Given the description of an element on the screen output the (x, y) to click on. 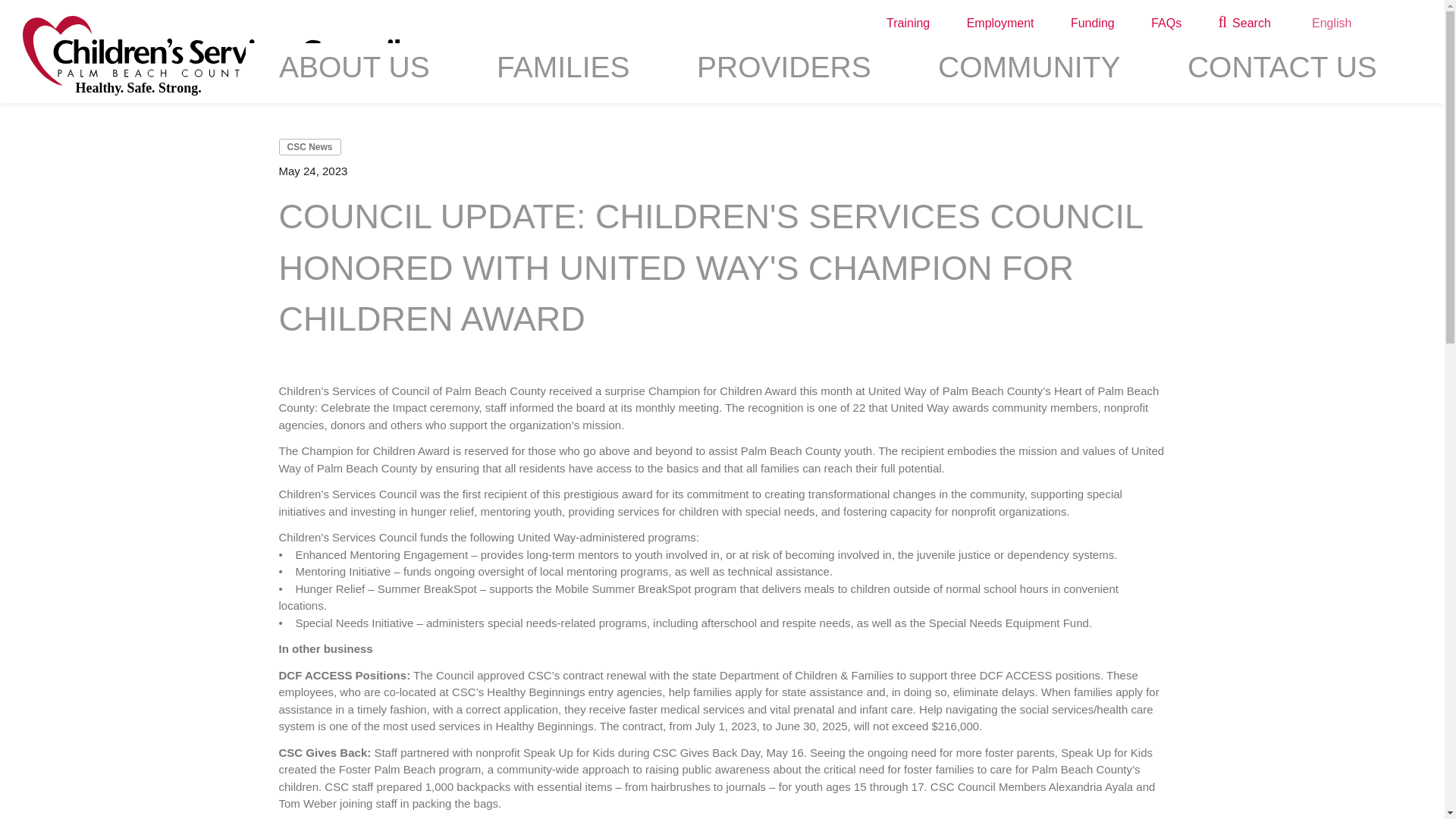
FAQs (1166, 23)
FAMILIES (563, 73)
Search (1244, 23)
Home (210, 56)
Training (907, 23)
ABOUT US (354, 73)
Employment (1000, 23)
Funding (1092, 23)
